Given the description of an element on the screen output the (x, y) to click on. 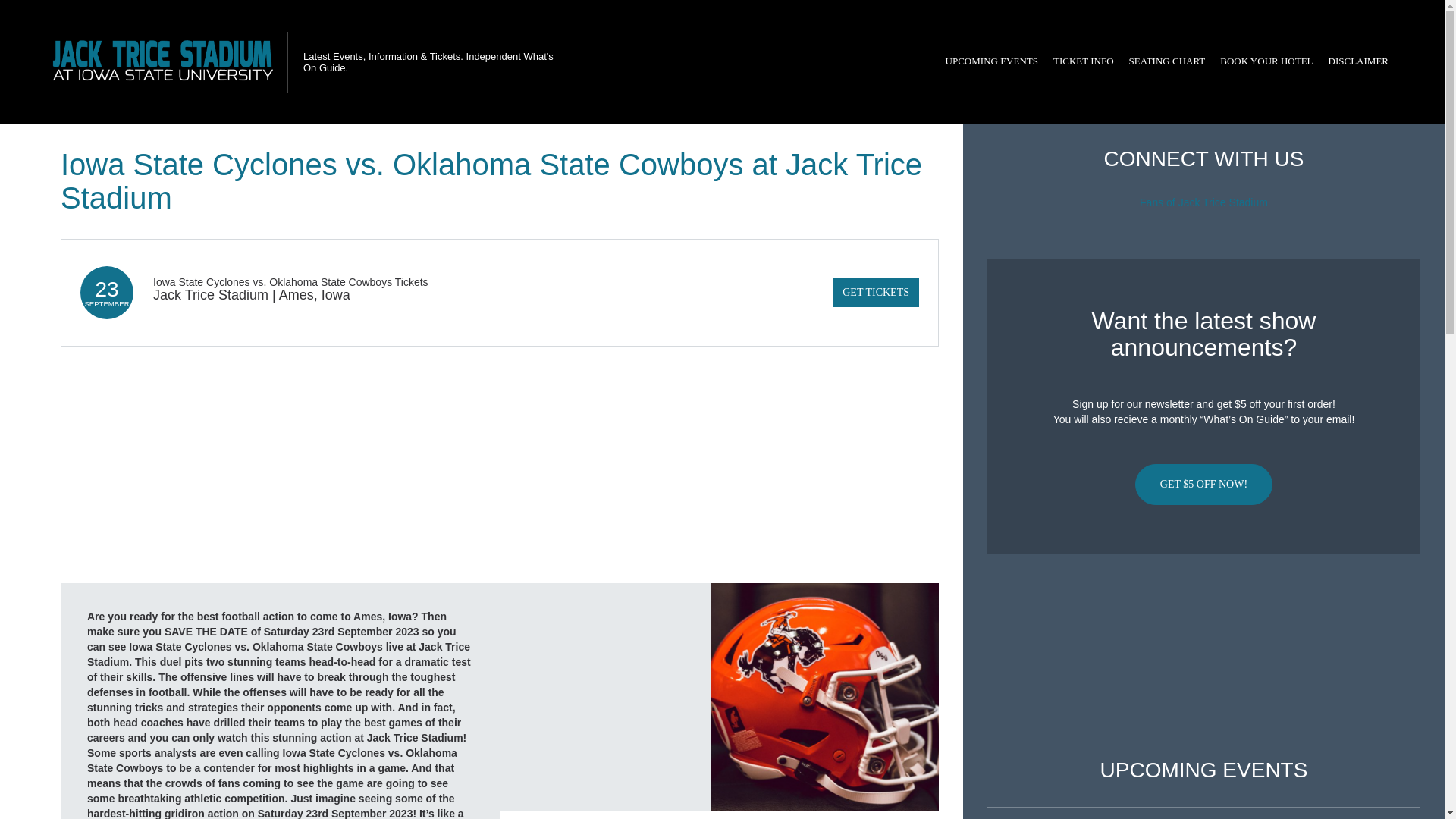
TICKET INFO (1083, 61)
Fans of Jack Trice Stadium (1204, 202)
GET TICKETS (875, 292)
BOOK YOUR HOTEL (1266, 61)
Iowa State Cyclones vs. Oklahoma State Cowboys Tickets (290, 282)
Advertisement (1204, 655)
UPCOMING EVENTS (991, 61)
SEATING CHART (1166, 61)
DISCLAIMER (1358, 61)
